Given the description of an element on the screen output the (x, y) to click on. 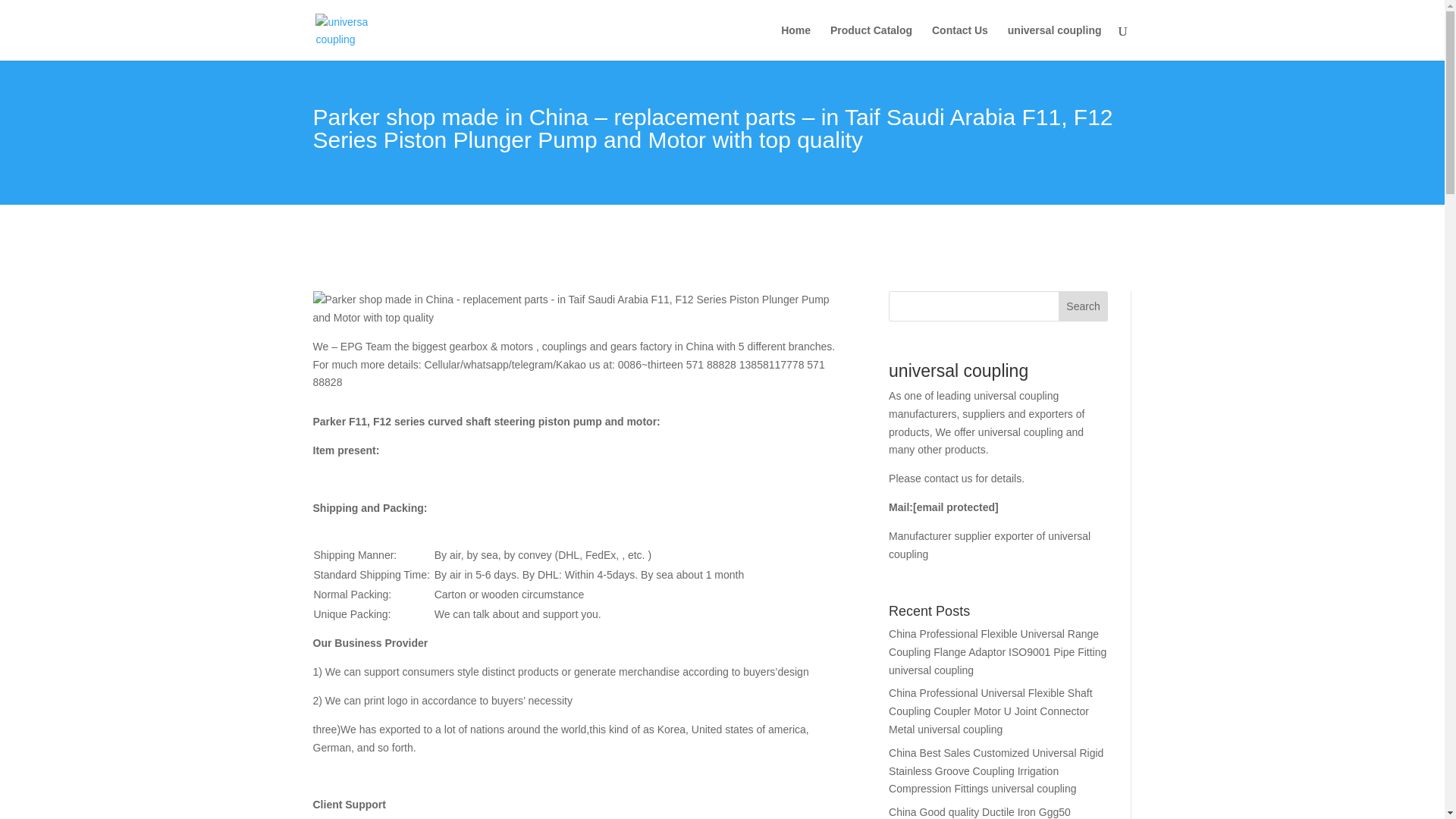
Product Catalog (870, 42)
universal coupling (1054, 42)
Search (1083, 306)
Home (795, 42)
Contact Us (959, 42)
Search (1083, 306)
